Given the description of an element on the screen output the (x, y) to click on. 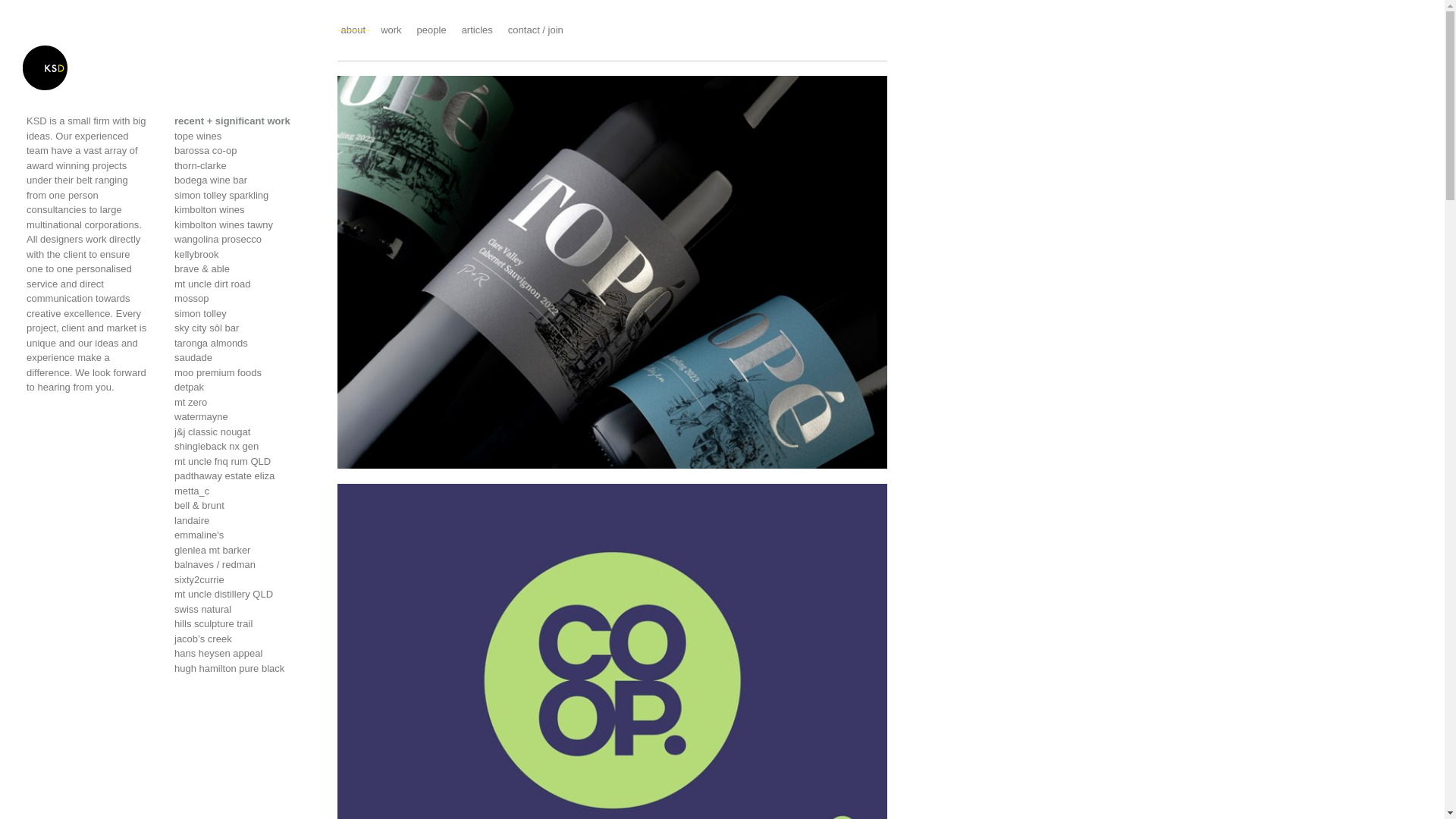
saudade Element type: text (242, 357)
detpak Element type: text (242, 387)
kimbolton wines tawny Element type: text (242, 224)
kellybrook Element type: text (242, 254)
watermayne Element type: text (242, 416)
balnaves / redman Element type: text (242, 564)
about Element type: text (353, 29)
taronga almonds Element type: text (242, 342)
tope wines Element type: text (242, 136)
hills sculpture trail Element type: text (242, 623)
mt uncle fnq rum QLD Element type: text (242, 460)
mossop Element type: text (242, 298)
bodega wine bar Element type: text (242, 180)
wangolina prosecco Element type: text (242, 239)
shingleback nx gen Element type: text (242, 446)
work Element type: text (390, 29)
brave & able Element type: text (242, 268)
simon tolley sparkling Element type: text (242, 195)
contact / join Element type: text (535, 29)
barossa co-op Element type: text (242, 150)
mt uncle dirt road Element type: text (242, 283)
metta_c Element type: text (242, 490)
hans heysen appeal Element type: text (242, 653)
padthaway estate eliza Element type: text (242, 475)
mt zero Element type: text (242, 401)
bell & brunt Element type: text (242, 505)
glenlea mt barker Element type: text (242, 550)
simon tolley Element type: text (242, 313)
swiss natural Element type: text (242, 609)
recent + significant work Element type: text (232, 120)
kimbolton wines Element type: text (242, 209)
hugh hamilton pure black Element type: text (242, 668)
mt uncle distillery QLD Element type: text (242, 594)
j&j classic nougat Element type: text (242, 431)
thorn-clarke Element type: text (242, 164)
articles Element type: text (476, 29)
emmaline's Element type: text (242, 534)
sixty2currie Element type: text (242, 578)
moo premium foods Element type: text (242, 372)
landaire Element type: text (242, 519)
people Element type: text (431, 29)
